Given the description of an element on the screen output the (x, y) to click on. 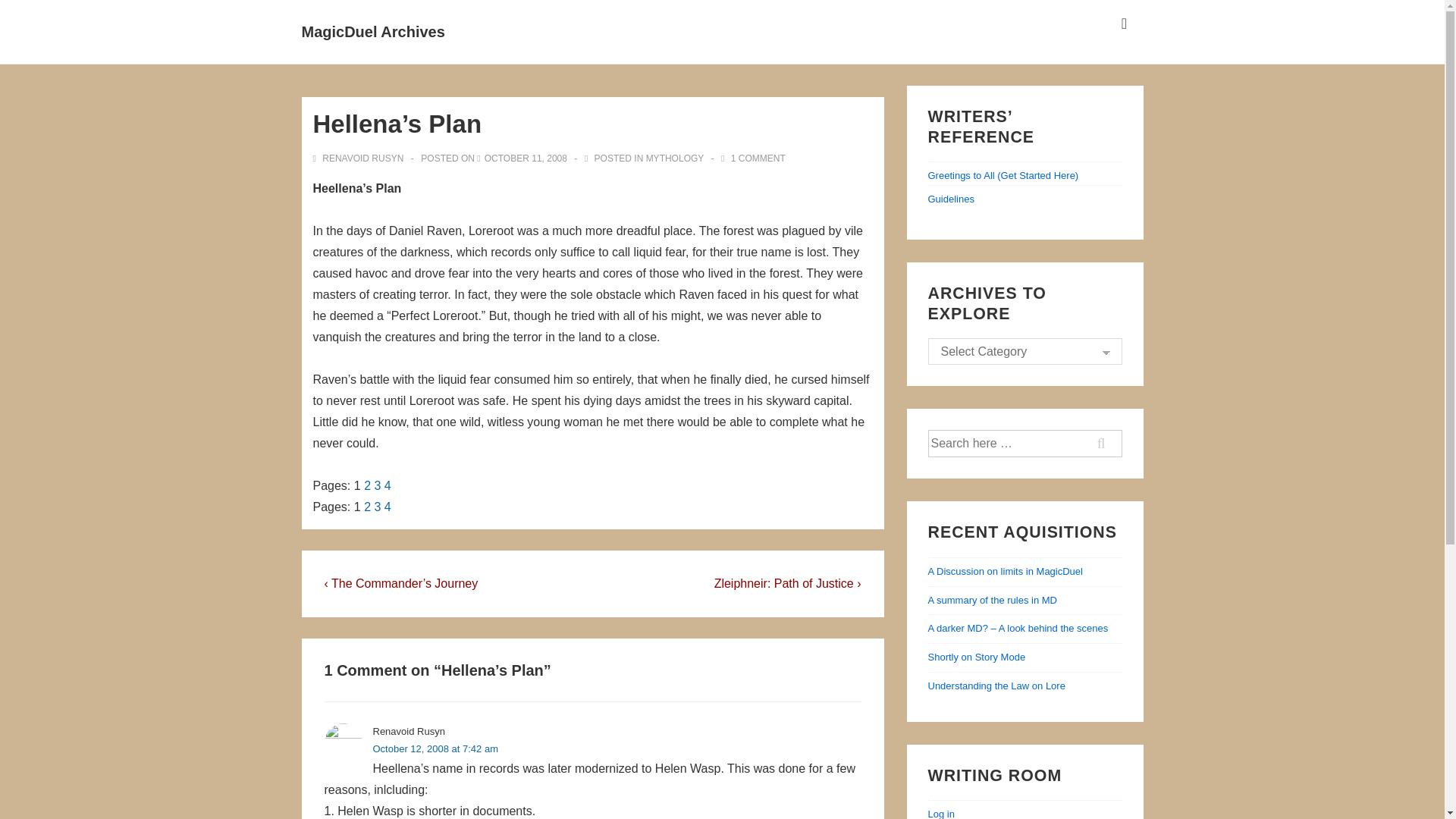
Shortly on Story Mode (977, 656)
View all posts by Renavoid Rusyn (359, 158)
MENU (1123, 23)
Understanding the Law on Lore (996, 685)
A Discussion on limits in MagicDuel (1005, 571)
1 COMMENT (758, 158)
Guidelines (951, 198)
October 12, 2008 at 7:42 am (435, 748)
RENAVOID RUSYN (359, 158)
A summary of the rules in MD (993, 600)
